Given the description of an element on the screen output the (x, y) to click on. 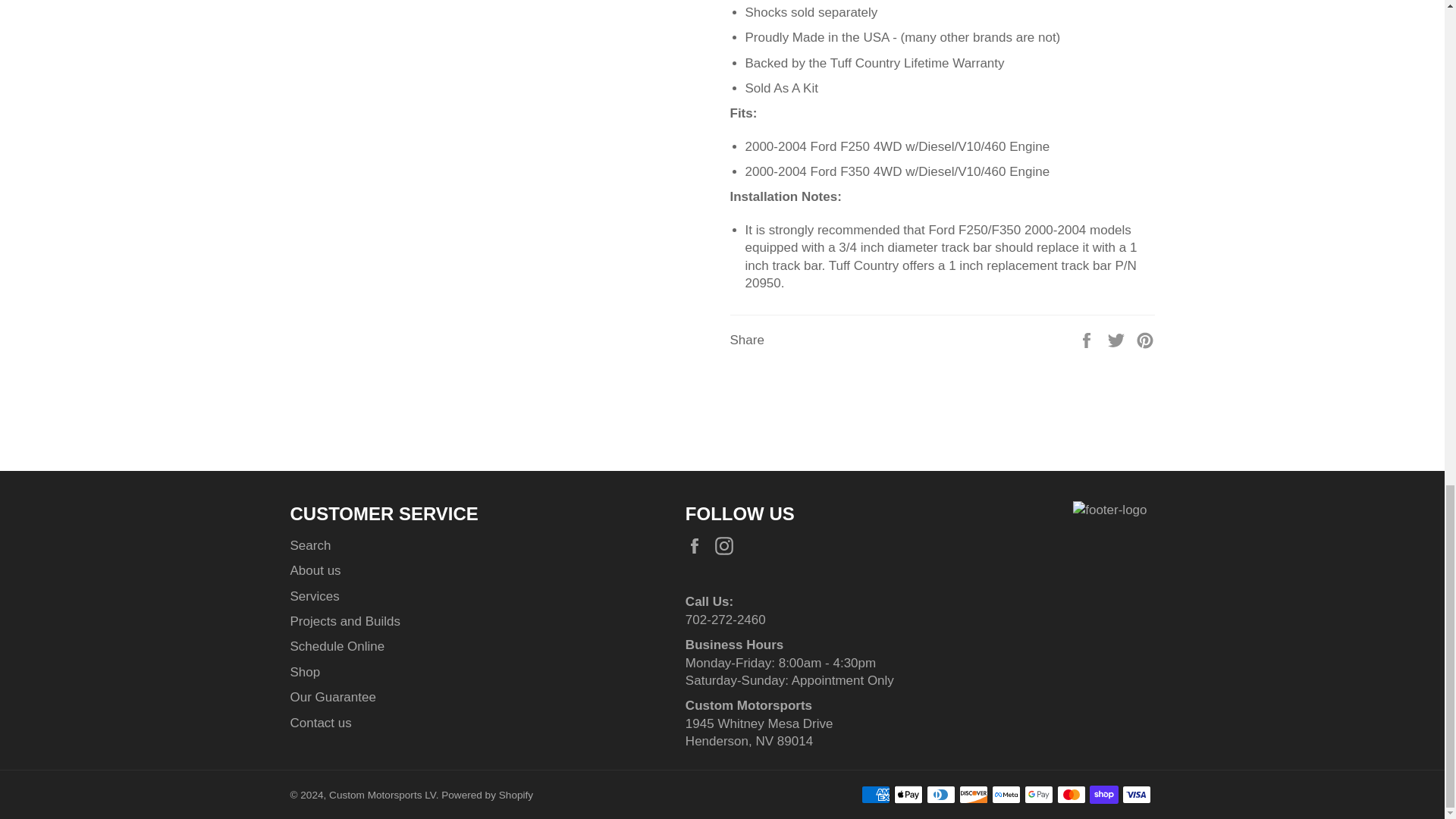
Pin on Pinterest (1144, 339)
Tweet on Twitter (1117, 339)
Share on Facebook (1088, 339)
Custom Motorsports LV on Instagram (727, 546)
Custom Motorsports LV on Facebook (698, 546)
